Given the description of an element on the screen output the (x, y) to click on. 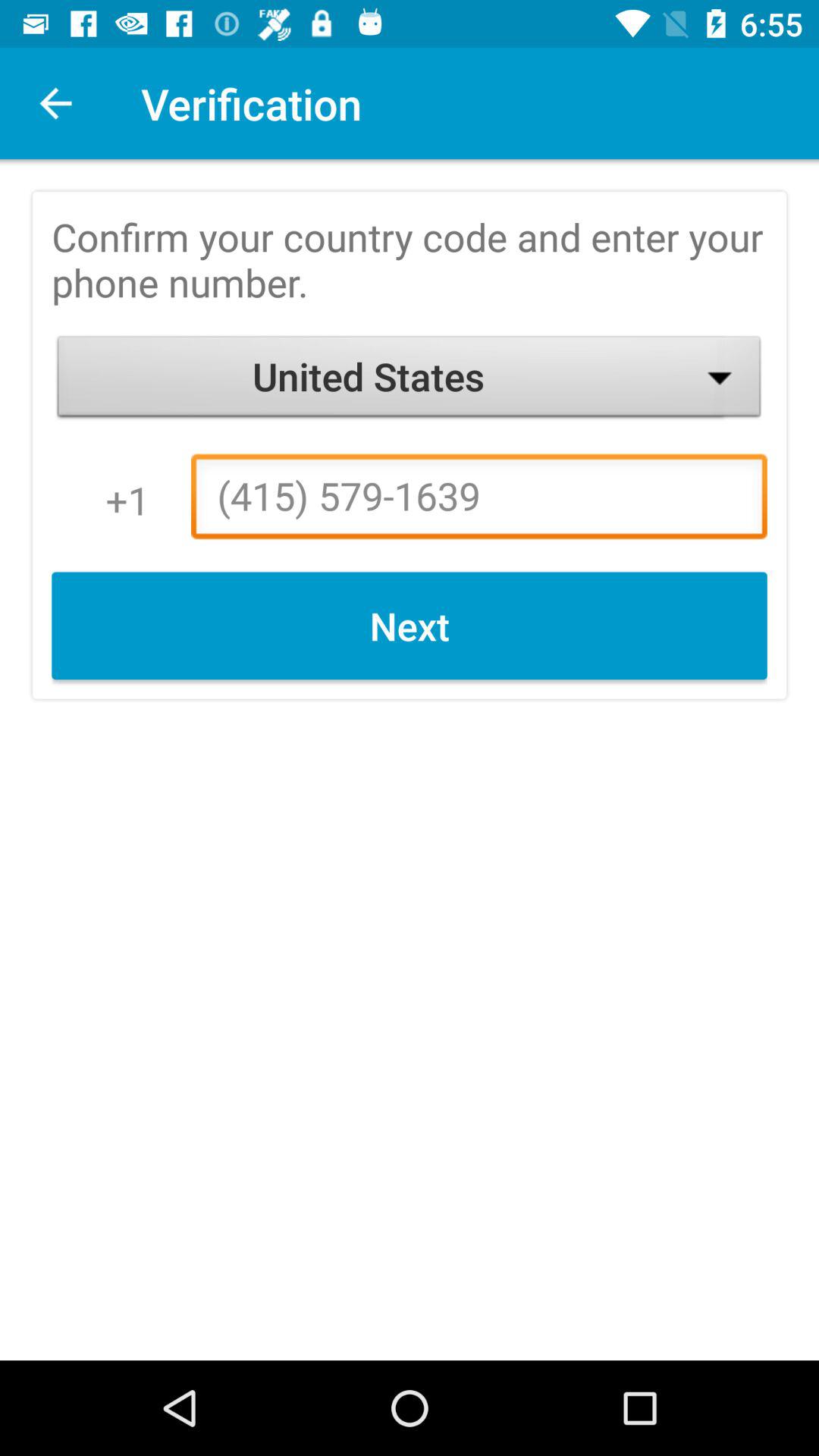
launch item above (415) 579-1639 item (409, 380)
